Given the description of an element on the screen output the (x, y) to click on. 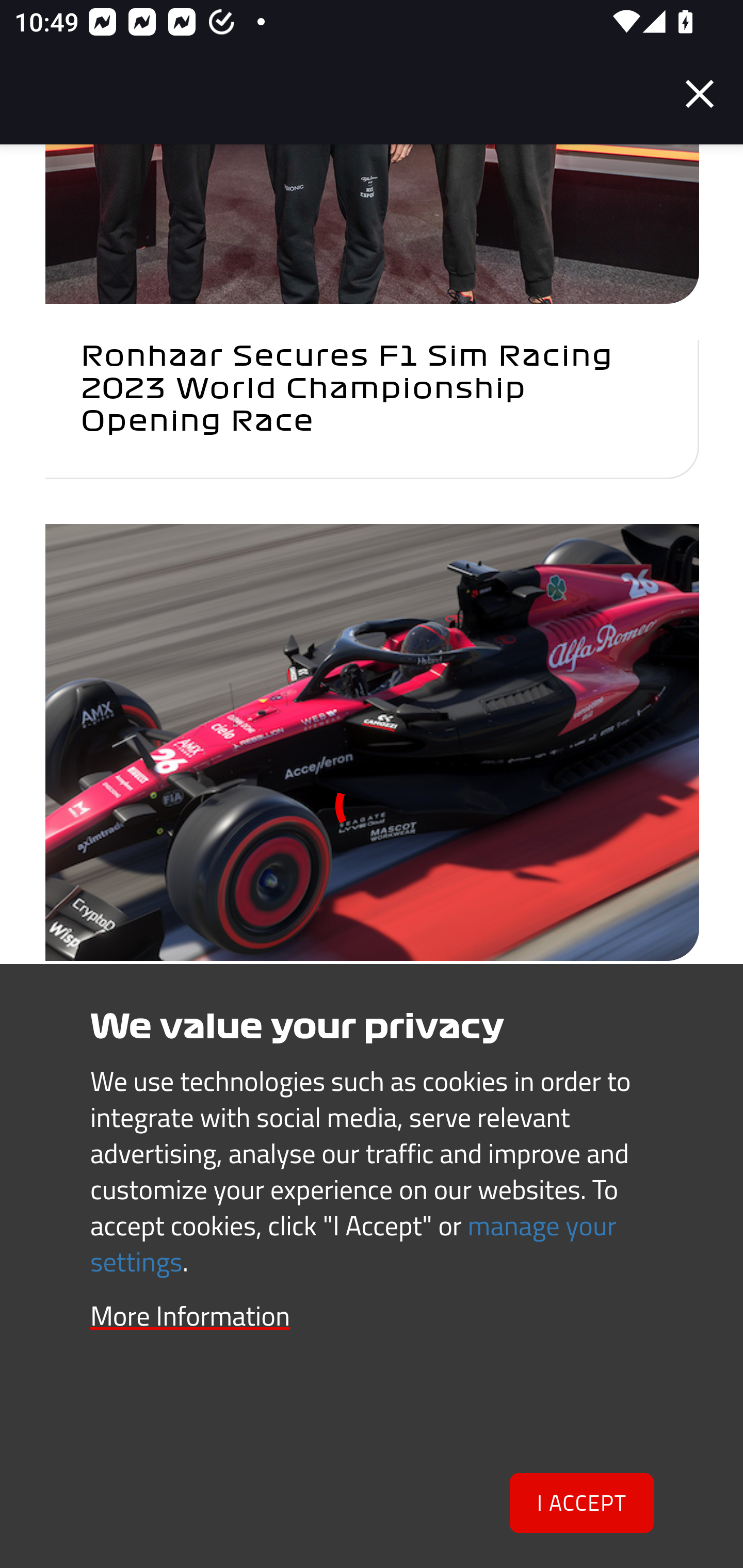
Close (699, 93)
Alfa Romeo's 2023 Livery Arrives On F1 22 (371, 831)
manage your settings (353, 1245)
More Information (190, 1317)
I ACCEPT (581, 1504)
